Given the description of an element on the screen output the (x, y) to click on. 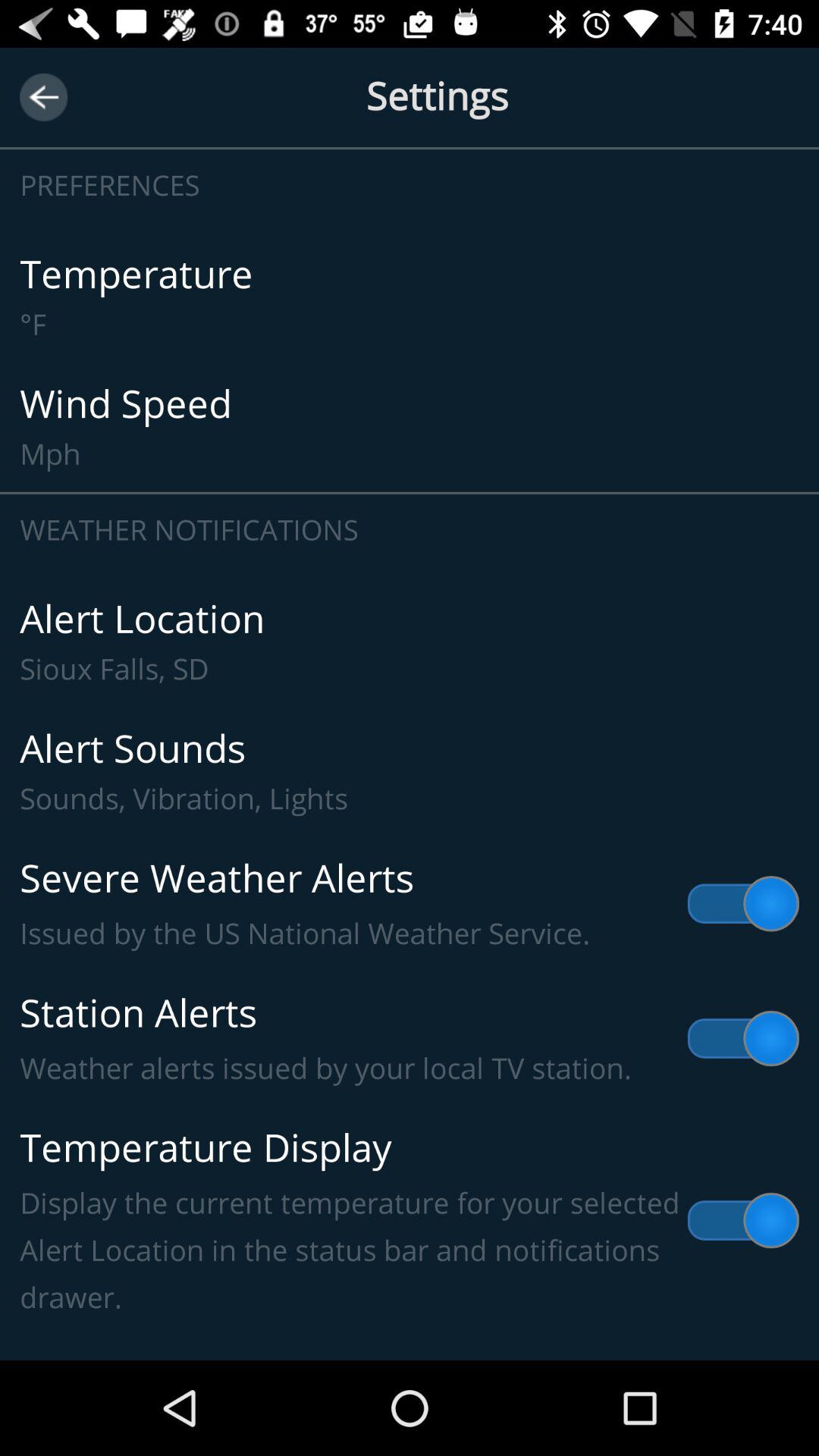
launch item below the temperature display display item (409, 1337)
